Given the description of an element on the screen output the (x, y) to click on. 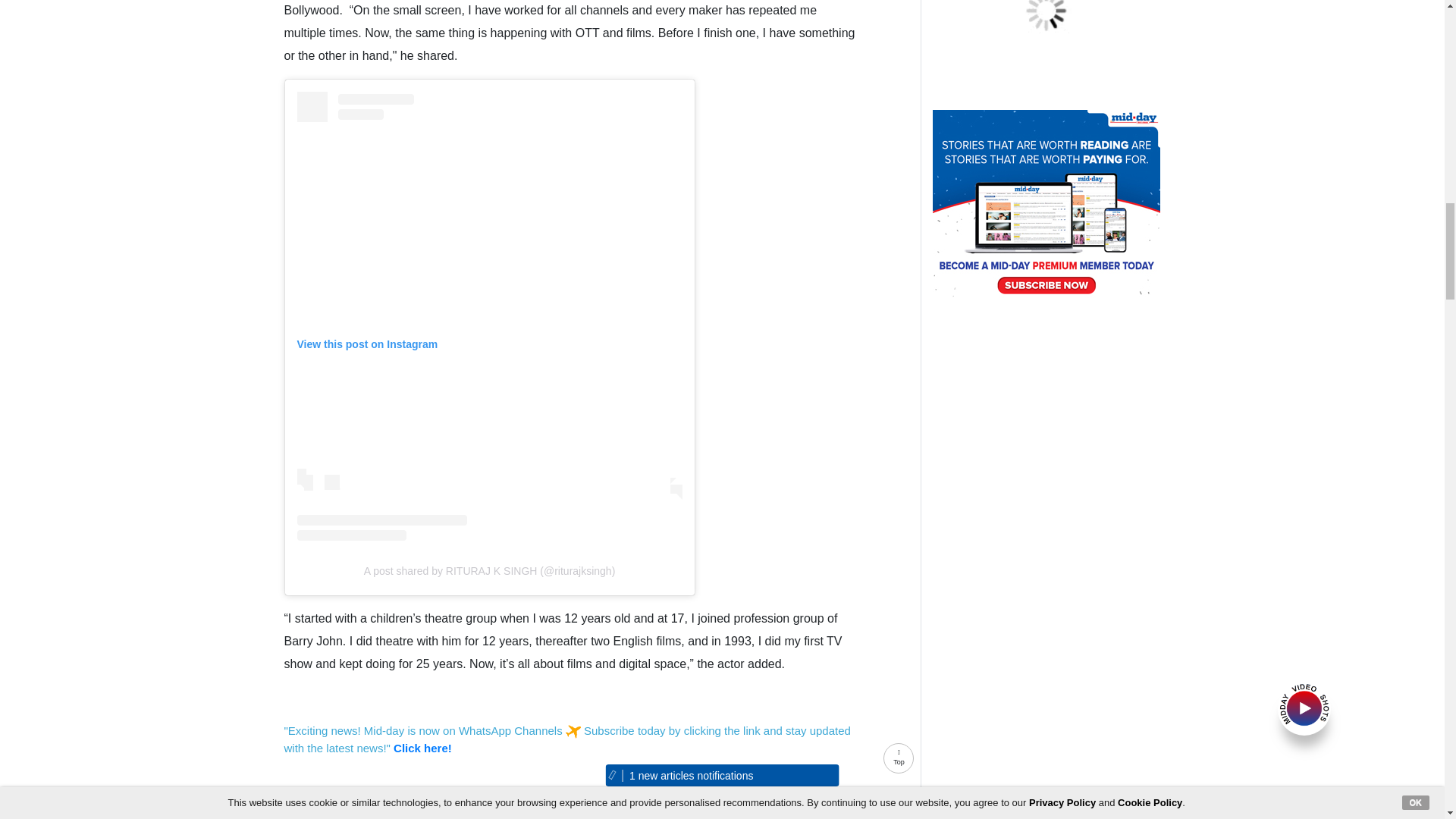
Top (898, 761)
